Given the description of an element on the screen output the (x, y) to click on. 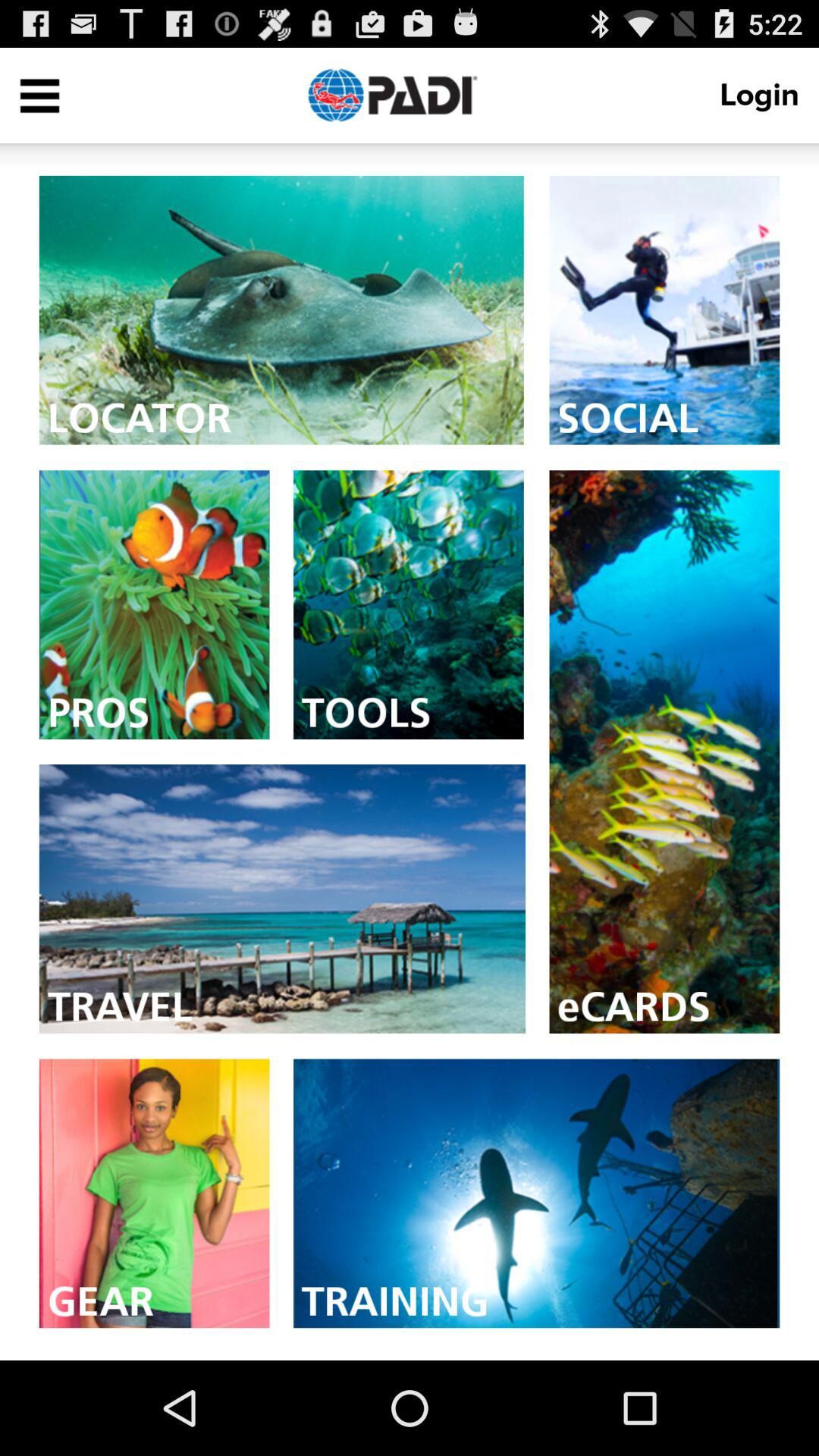
access the locator (281, 309)
